Given the description of an element on the screen output the (x, y) to click on. 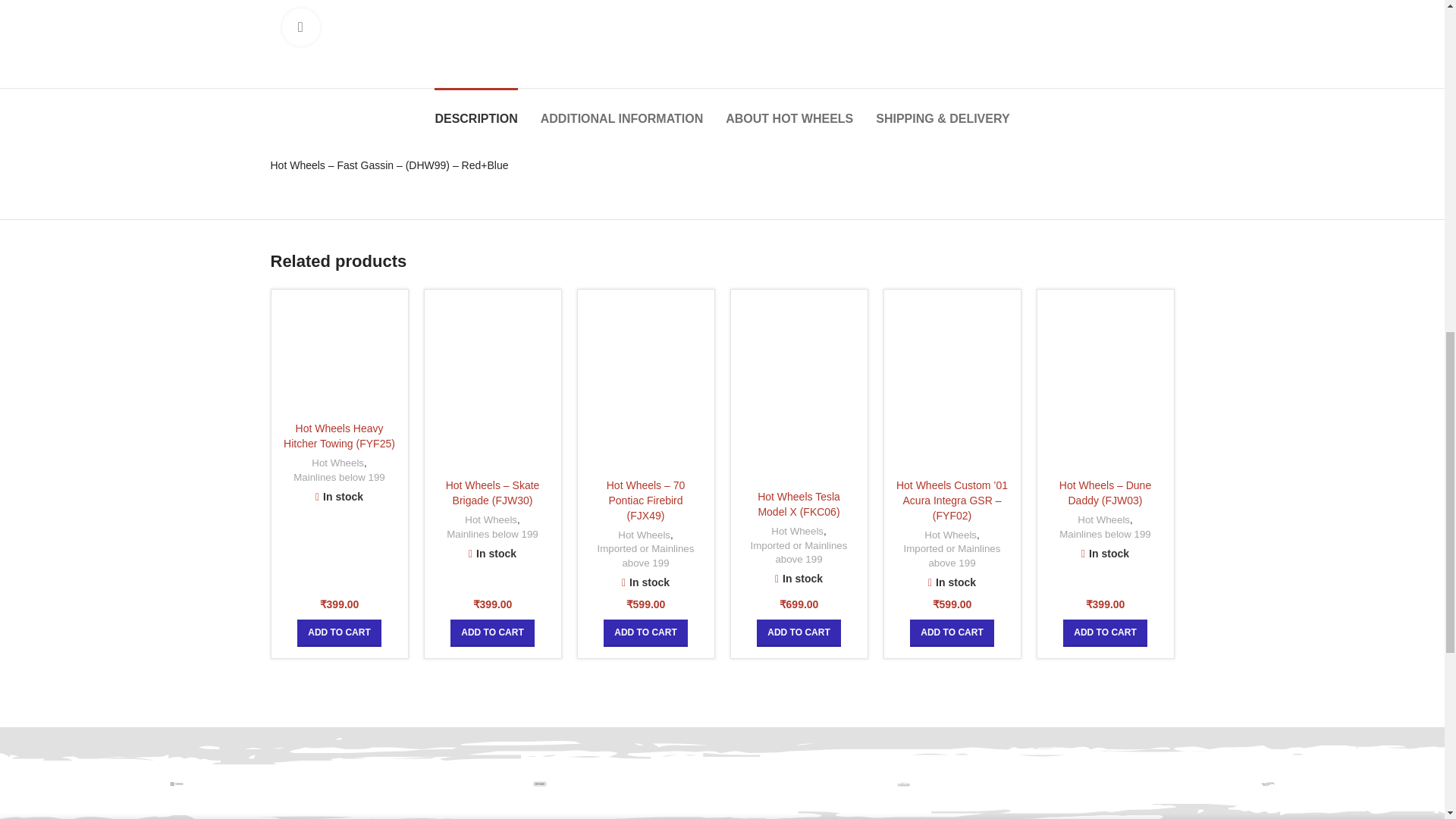
Tomica (179, 783)
Matchbox (540, 783)
Majorette (904, 783)
Hot Wheels (1268, 783)
